Given the description of an element on the screen output the (x, y) to click on. 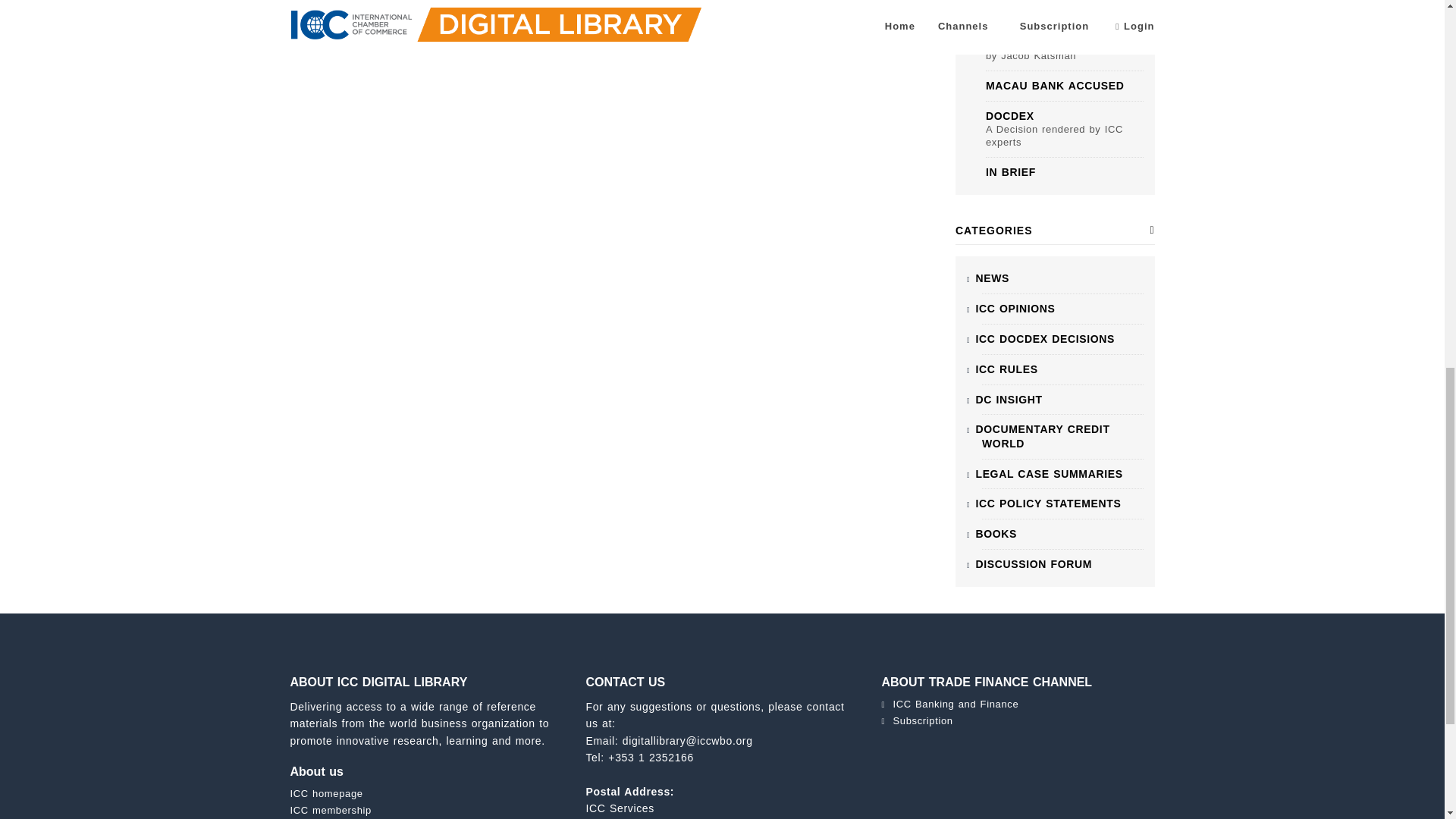
News (992, 277)
SPECIAL REPORT (1035, 17)
ICC Opinions (1014, 308)
ICC DOCDEX Decisions (1048, 473)
Forum (1033, 563)
ICC Rules (1005, 369)
Commission Reports (1048, 503)
DC World (1042, 436)
Books (995, 533)
ICC DOCDEX Decisions (1045, 338)
DC Insight (1008, 399)
